Given the description of an element on the screen output the (x, y) to click on. 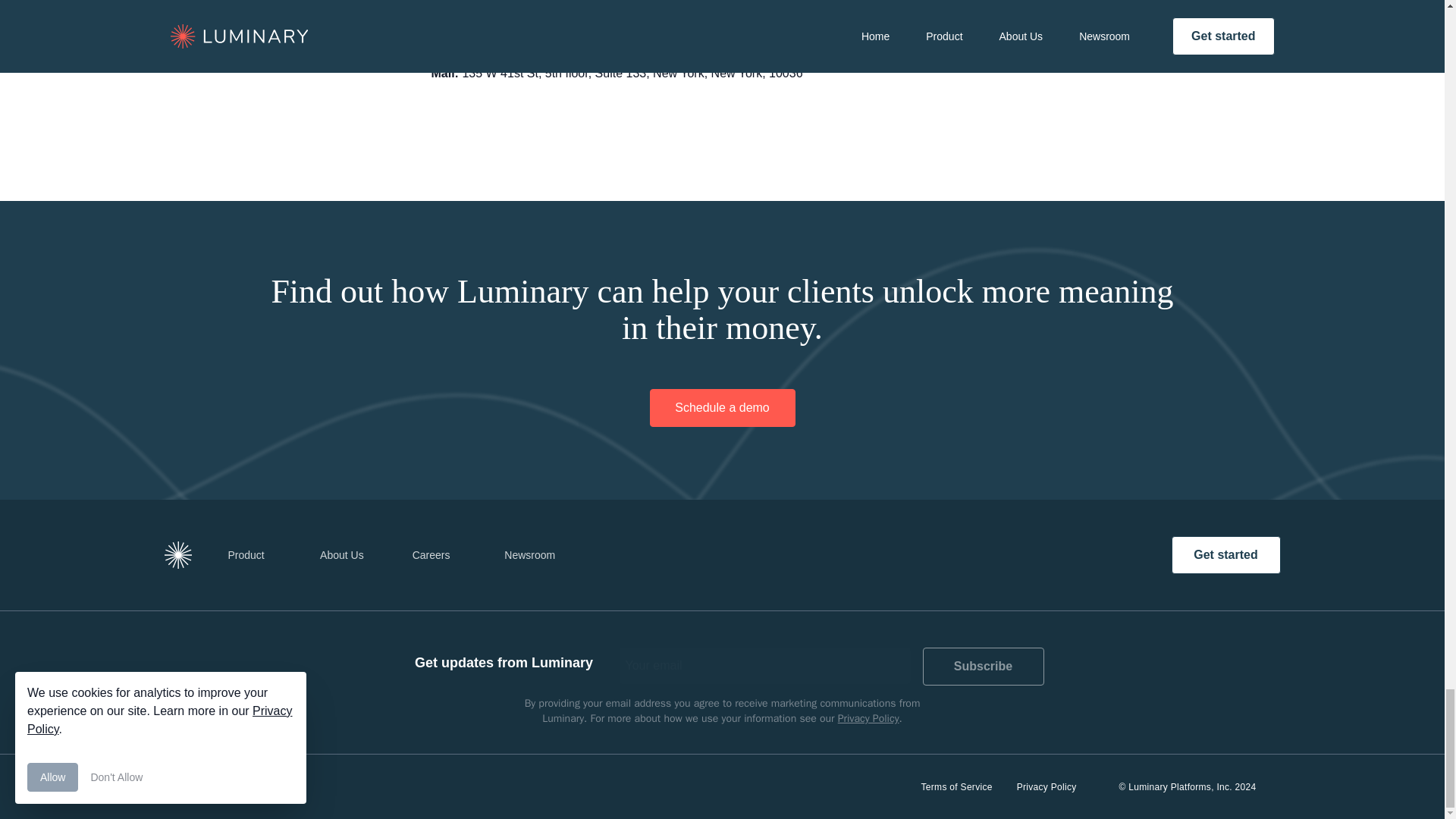
Subscribe (982, 666)
Get started (1224, 555)
Terms of Service (956, 786)
Privacy Policy (868, 717)
Careers (434, 554)
Newsroom (544, 554)
About Us (342, 554)
Product (248, 554)
Schedule a demo (721, 407)
Privacy Policy (1046, 786)
Subscribe (982, 666)
